Given the description of an element on the screen output the (x, y) to click on. 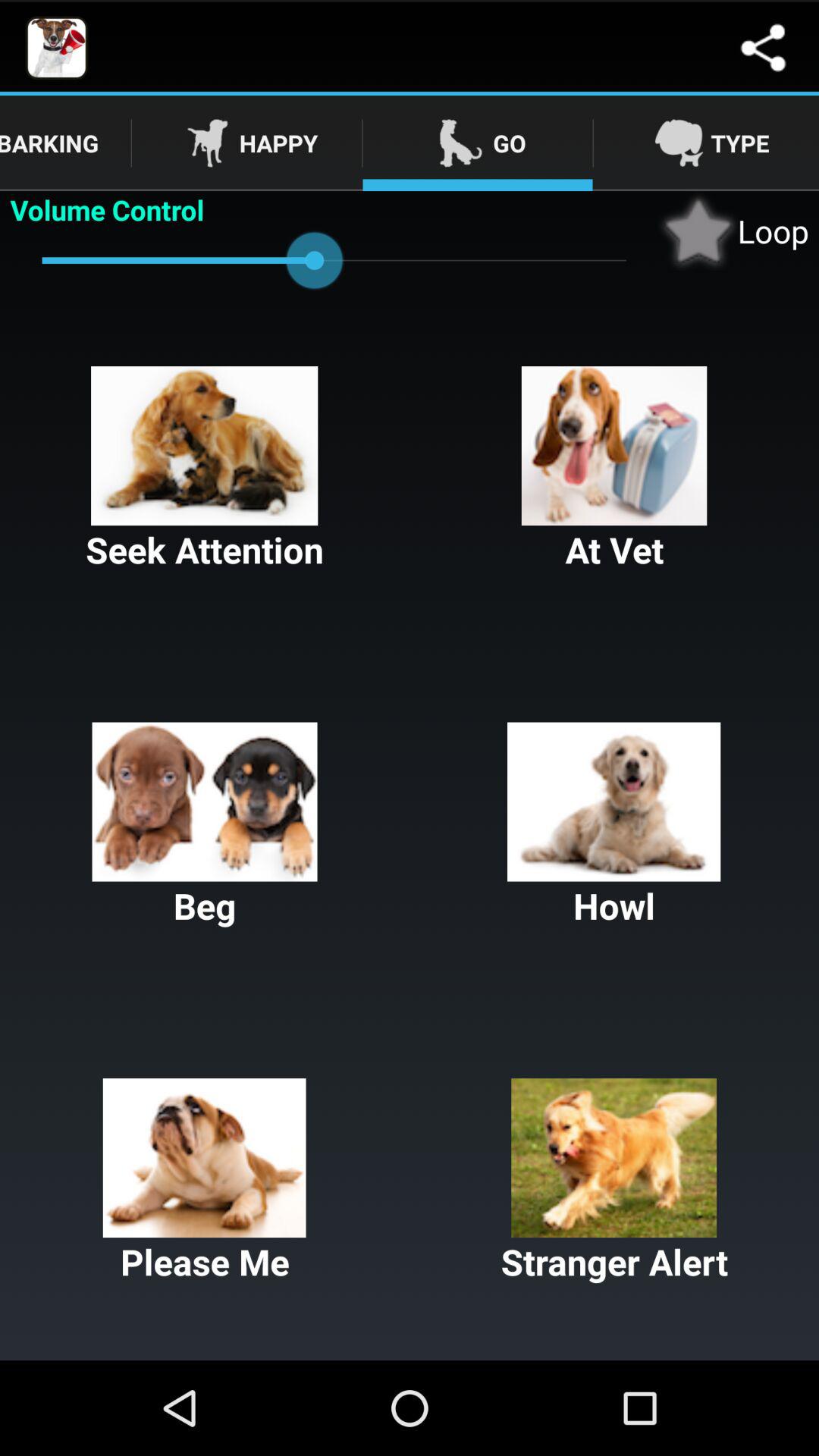
turn on the loop checkbox (733, 230)
